Given the description of an element on the screen output the (x, y) to click on. 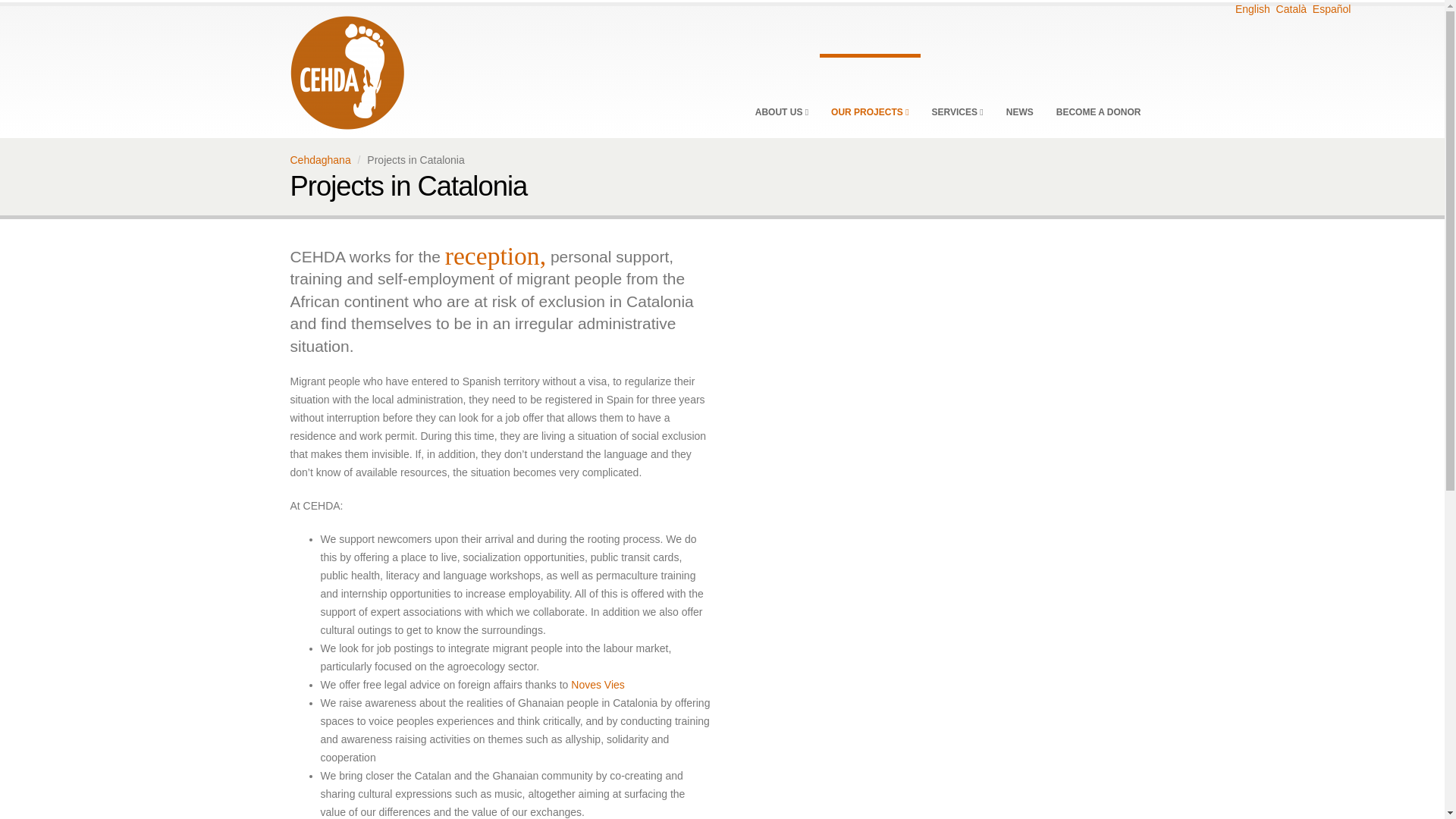
 Noves Vies (595, 684)
ABOUT US (781, 94)
 English (1250, 9)
Cehdaghana (319, 159)
Cehdaghana (346, 69)
SERVICES (957, 94)
OUR PROJECTS (869, 94)
Go to Cehdaghana. (319, 159)
Cehdaghana (346, 72)
BECOME A DONOR (1099, 94)
